Given the description of an element on the screen output the (x, y) to click on. 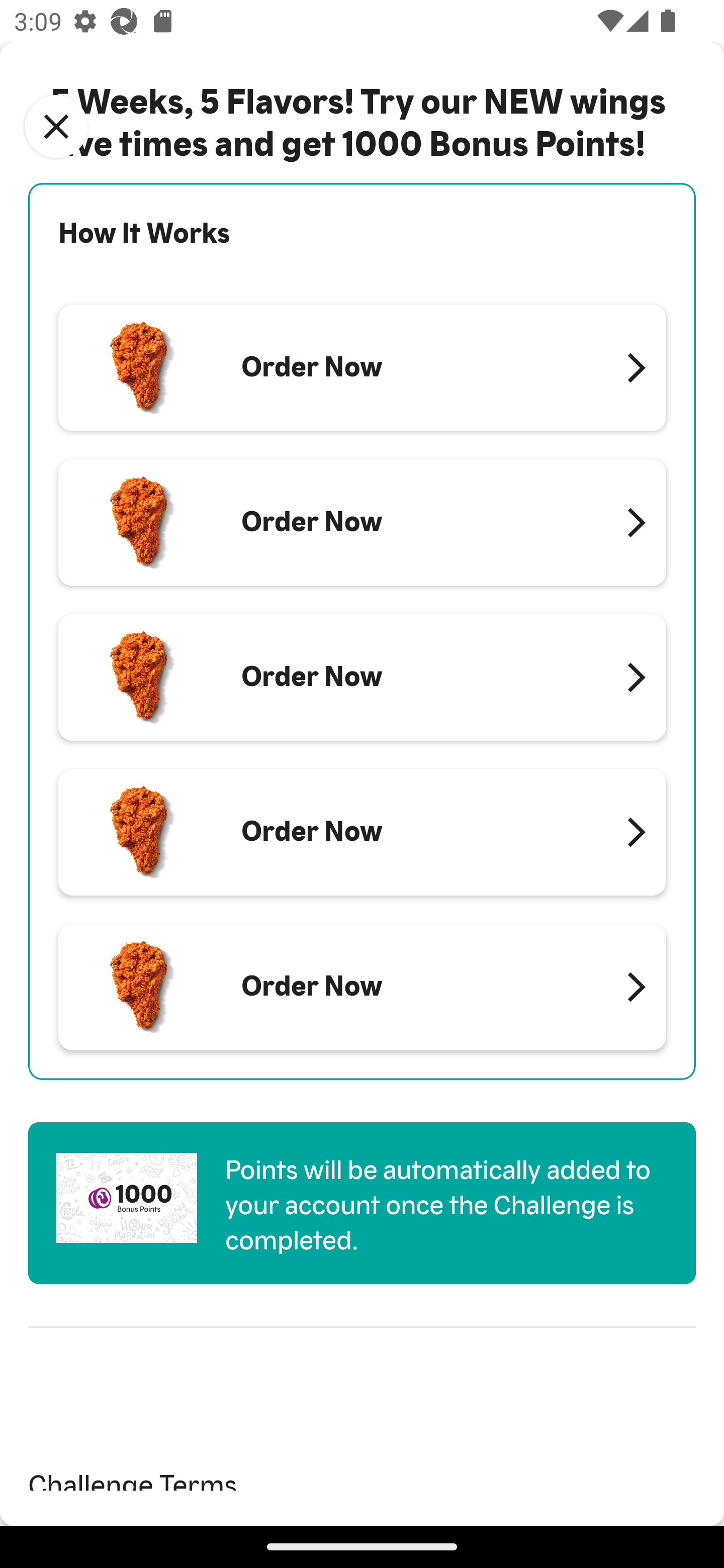
Close  (56, 126)
Order Now (362, 367)
Order Now (362, 522)
Order Now (362, 677)
Order Now (362, 831)
Order Now (362, 986)
